Given the description of an element on the screen output the (x, y) to click on. 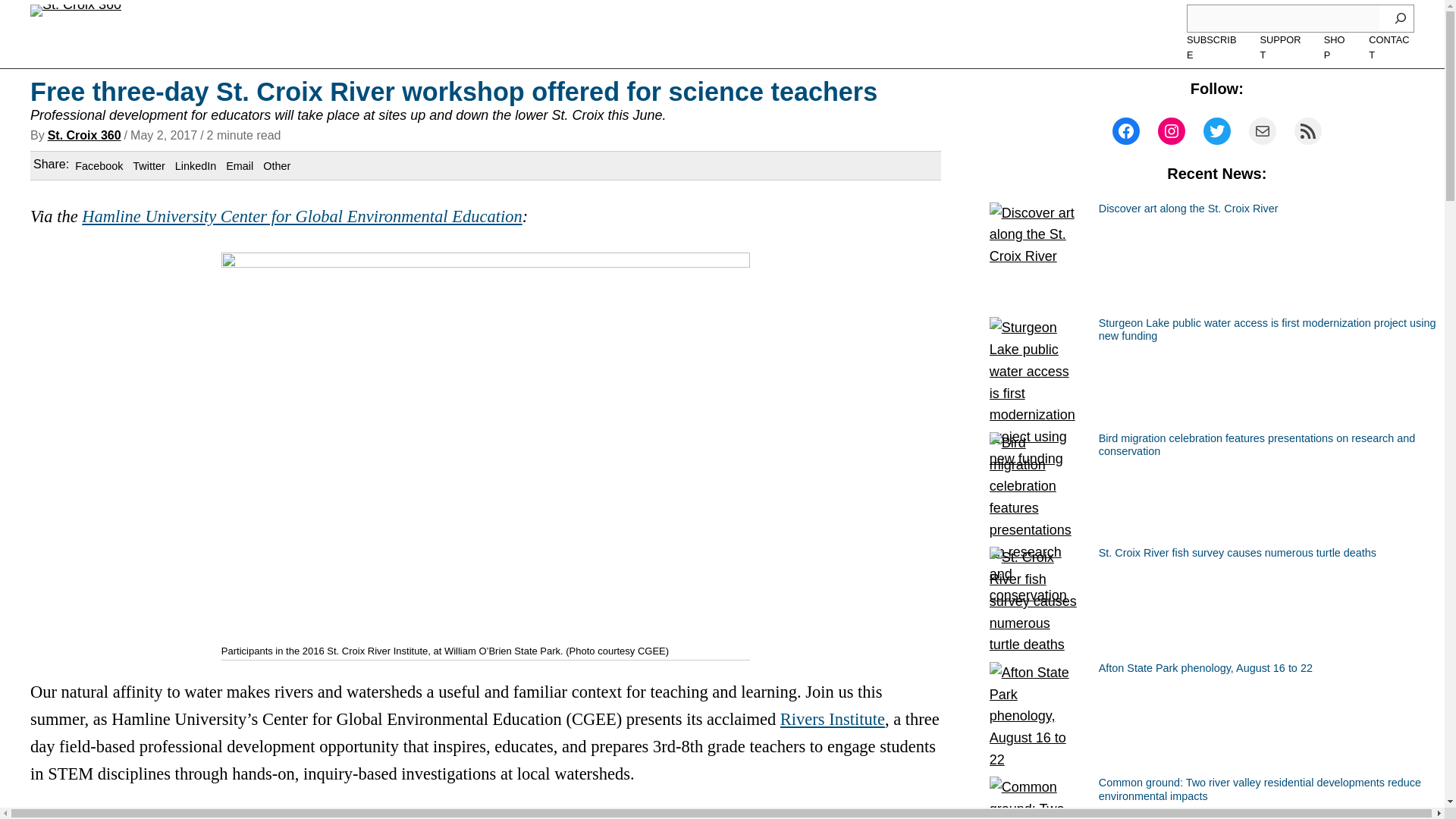
Facebook (98, 165)
Discover art along the St. Croix River (1188, 208)
Rivers Institute (832, 719)
Other (276, 165)
SUPPORT (1281, 47)
SUBSCRIBE (1213, 47)
CONTACT (1390, 47)
Twitter (148, 165)
